Given the description of an element on the screen output the (x, y) to click on. 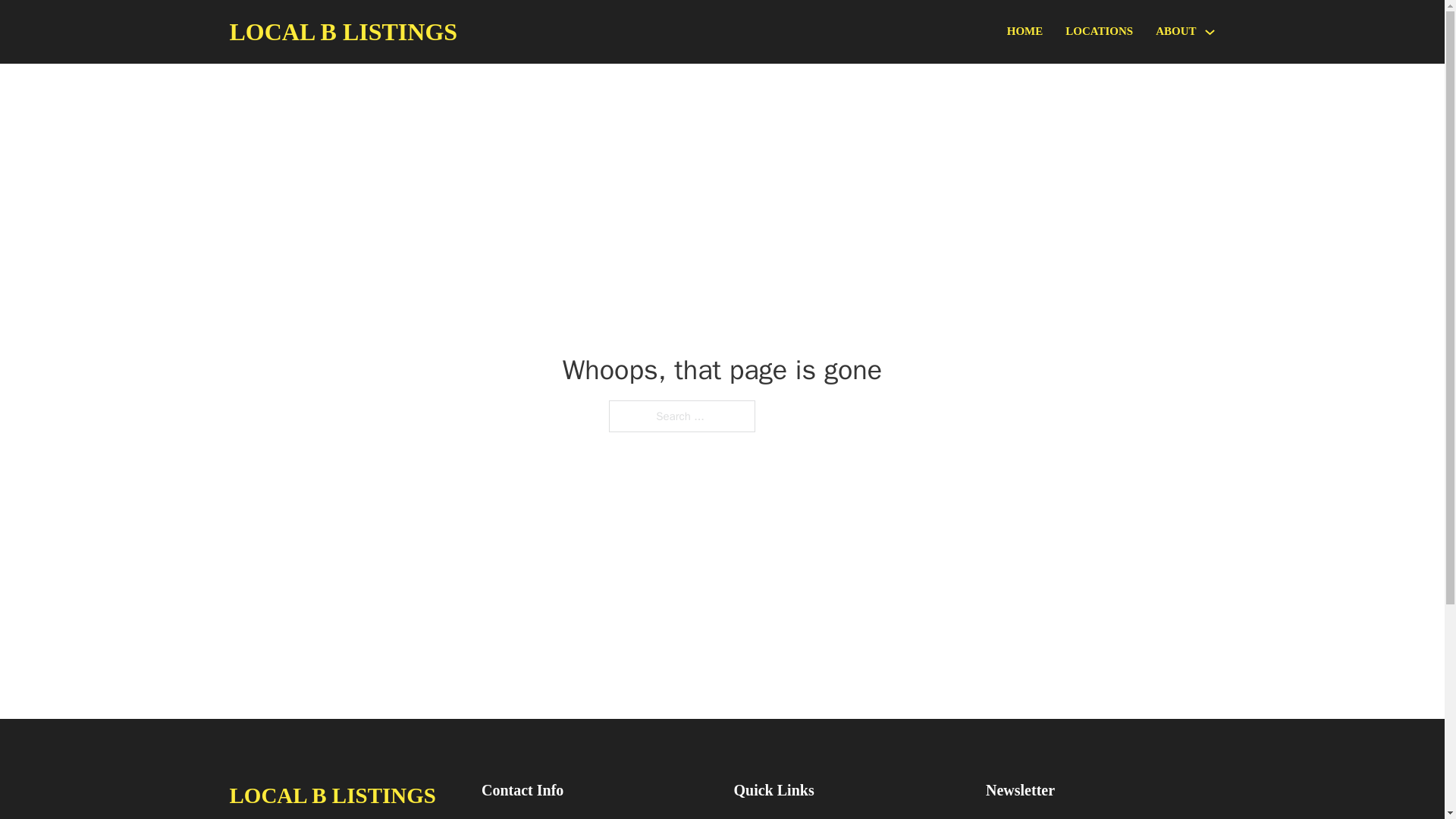
LOCAL B LISTINGS (342, 31)
LOCATIONS (1098, 31)
HOME (1025, 31)
LOCAL B LISTINGS (331, 795)
